Given the description of an element on the screen output the (x, y) to click on. 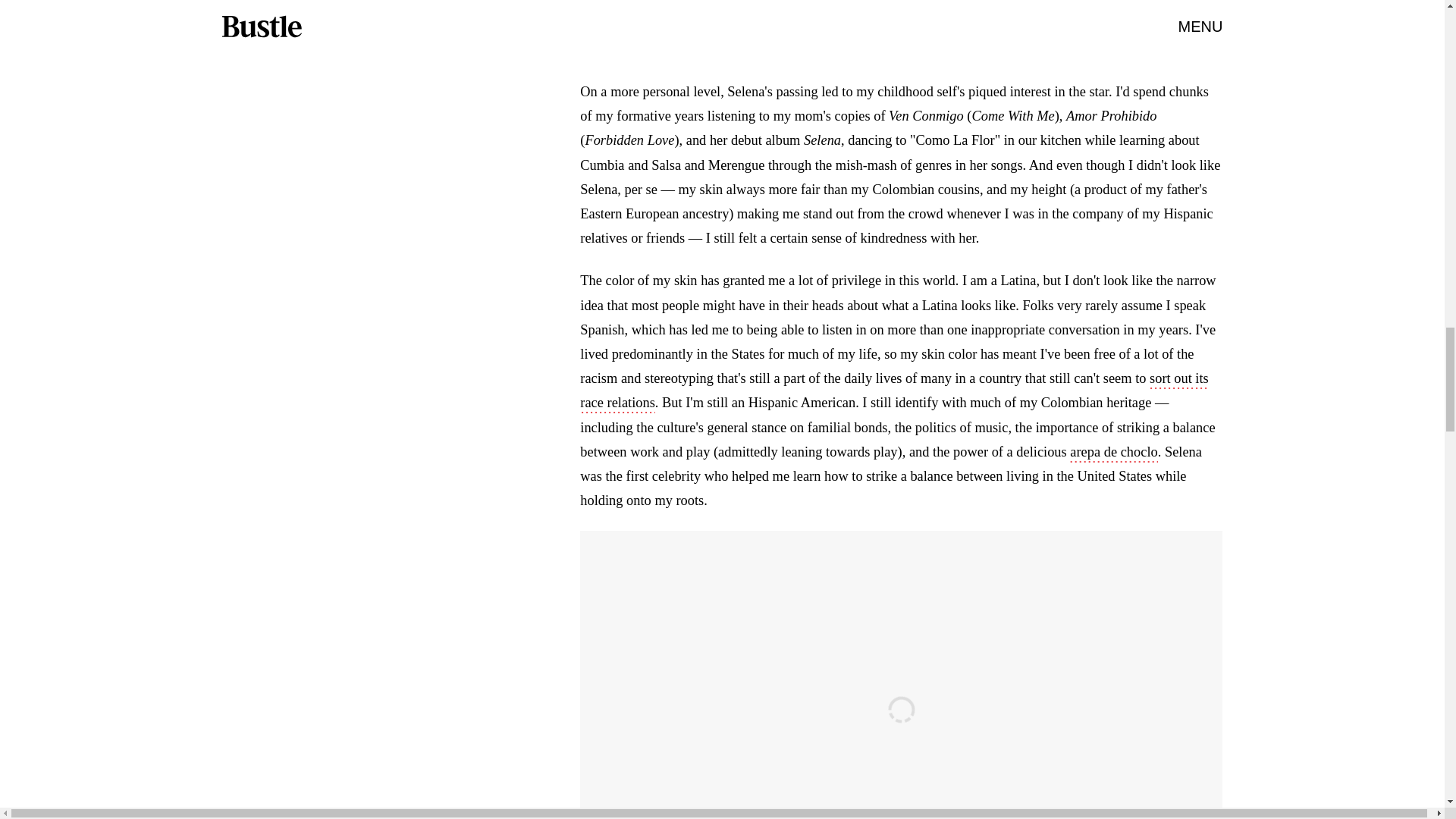
arepa de choclo (1113, 453)
sort out its race relations (893, 392)
